Given the description of an element on the screen output the (x, y) to click on. 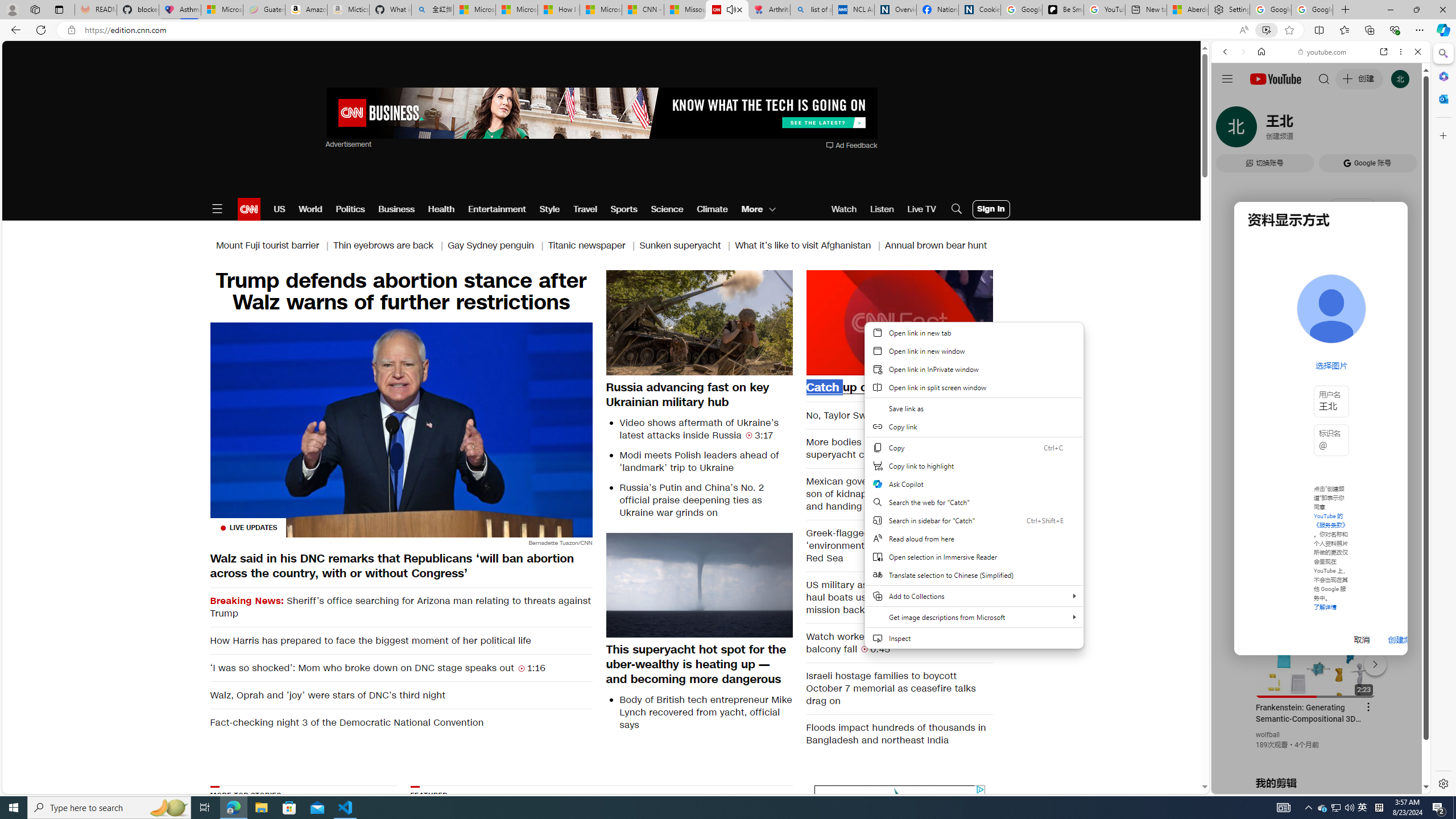
This site scope (1259, 102)
Open link in InPrivate window (973, 369)
Mute (821, 365)
you (1315, 755)
Copy link to highlight (973, 466)
CNN - MSN (642, 9)
Options (952, 365)
Mute tab (730, 8)
